Given the description of an element on the screen output the (x, y) to click on. 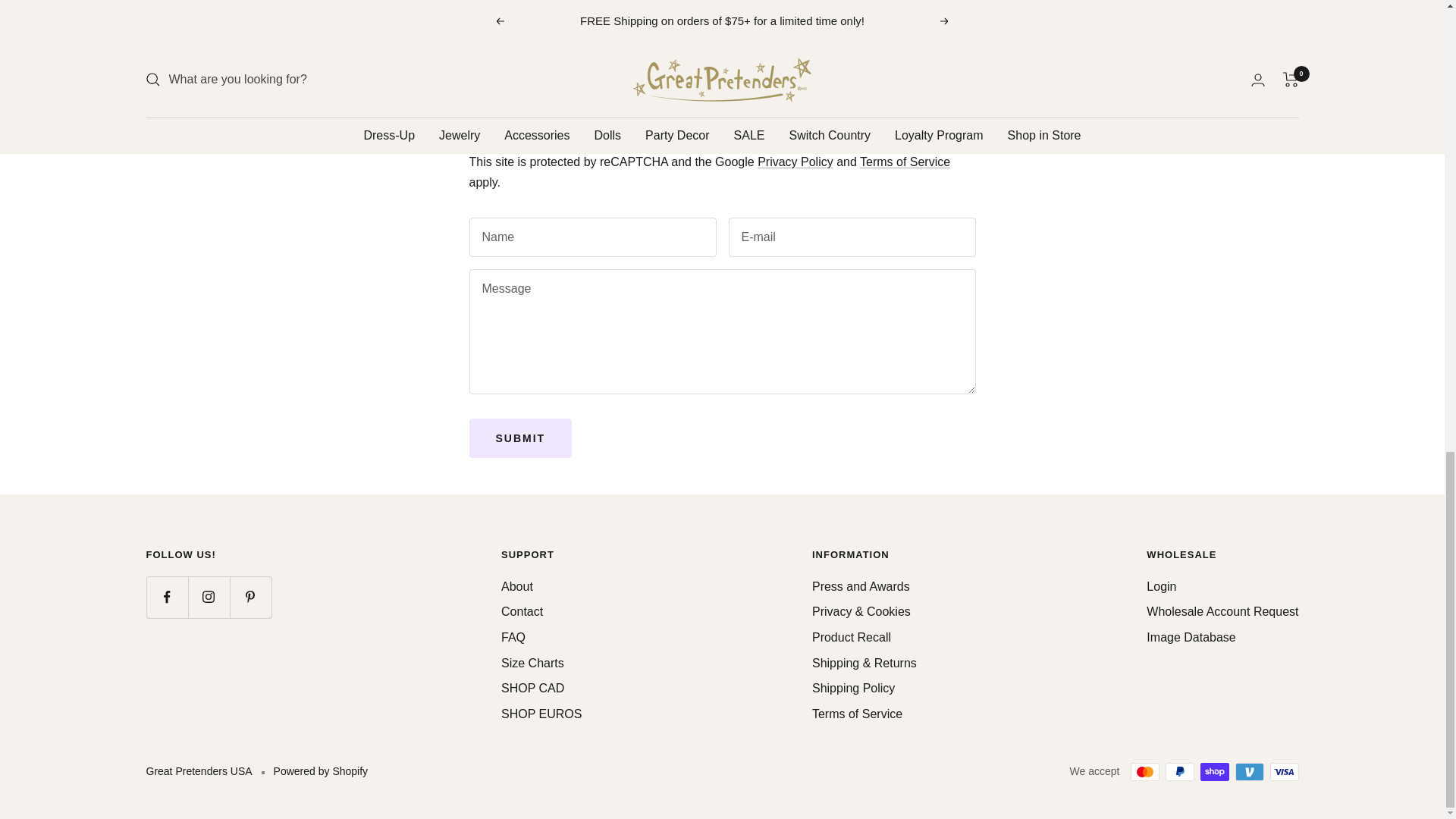
Costume Feature: Izabella in our Snow White Tea Dress (854, 20)
A Whole New World: New Costumes for 2020 (563, 20)
